Given the description of an element on the screen output the (x, y) to click on. 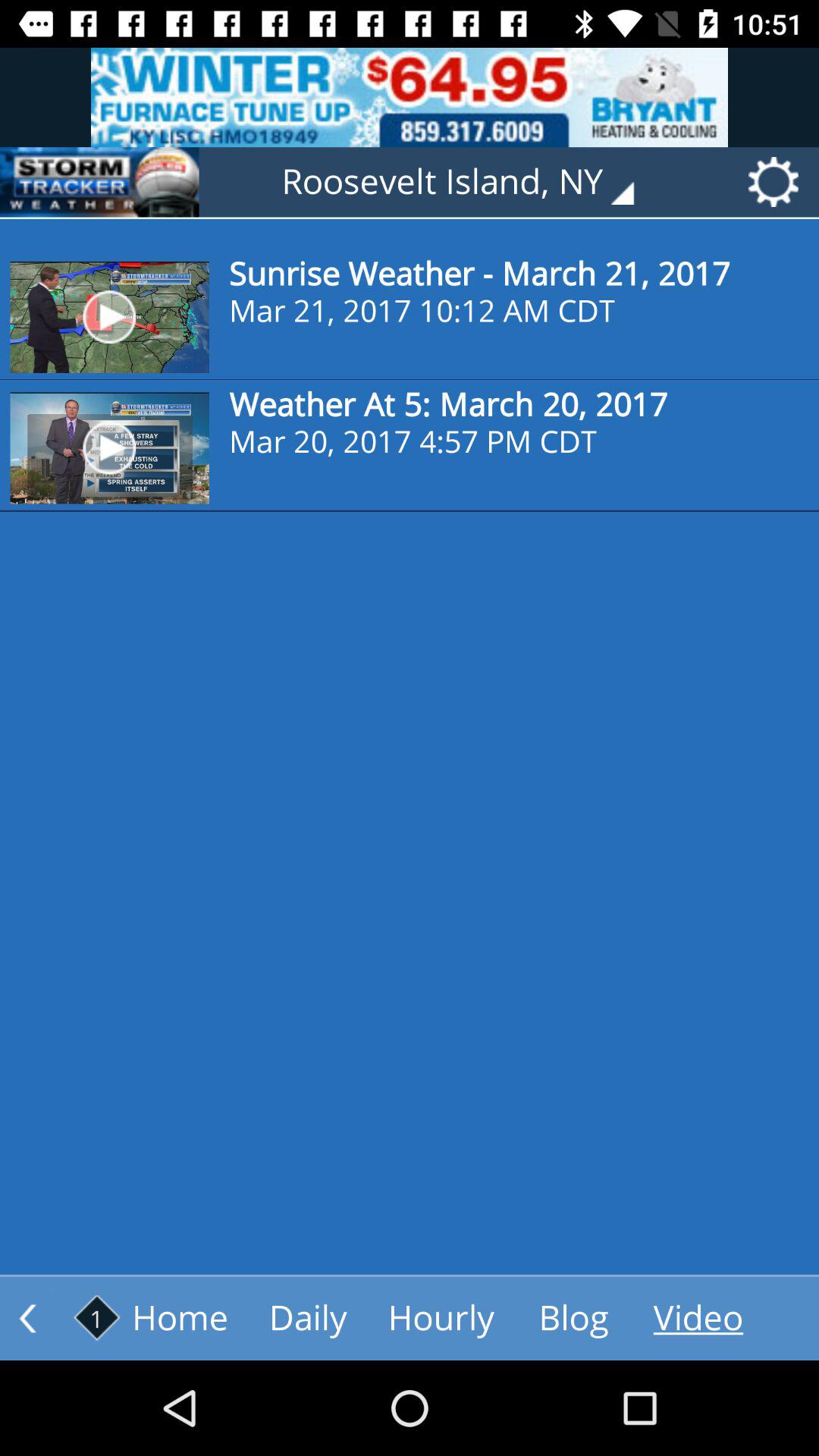
advertisements (409, 97)
